Given the description of an element on the screen output the (x, y) to click on. 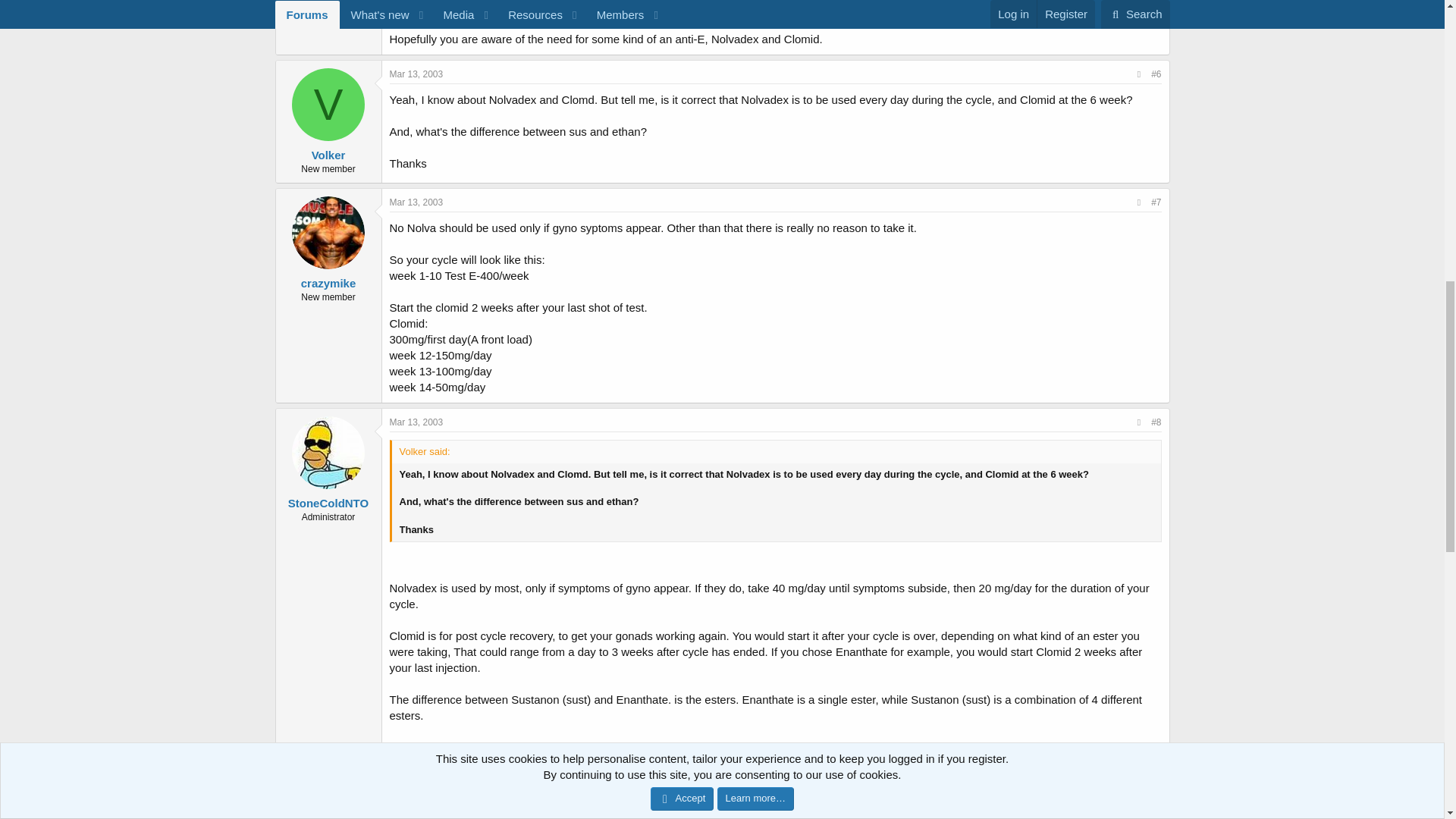
Mar 13, 2003 at 8:35 PM (417, 73)
Mar 13, 2003 at 8:51 PM (417, 202)
Mar 13, 2003 at 8:55 PM (417, 421)
